Given the description of an element on the screen output the (x, y) to click on. 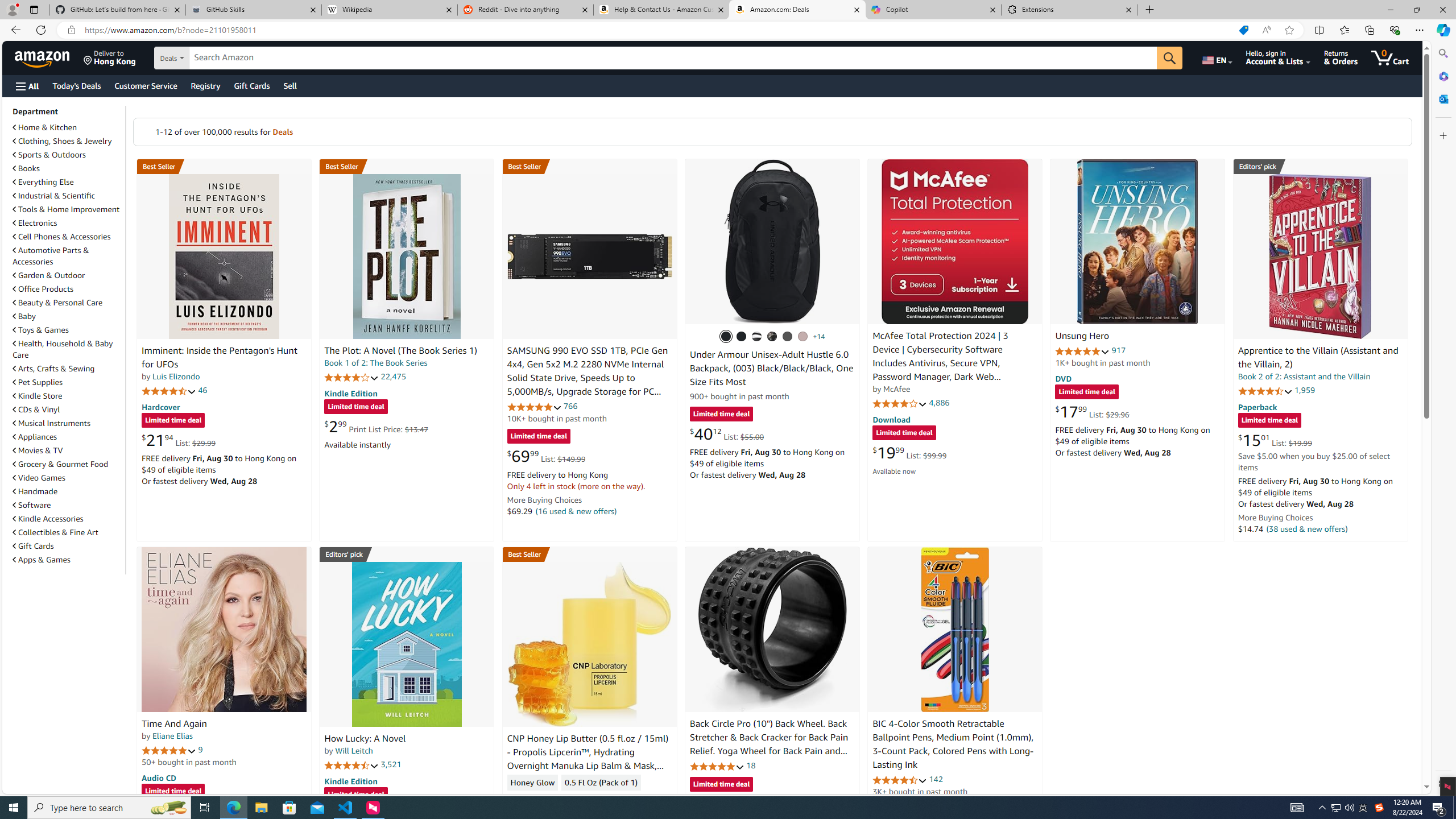
Audio CD (158, 777)
Tools & Home Improvement (66, 208)
Kindle Store (37, 395)
Imminent: Inside the Pentagon's Hunt for UFOs (223, 256)
9 (200, 749)
Download (891, 419)
Book 1 of 2: The Book Series (376, 362)
Paperback (1256, 406)
Today's Deals (76, 85)
